Given the description of an element on the screen output the (x, y) to click on. 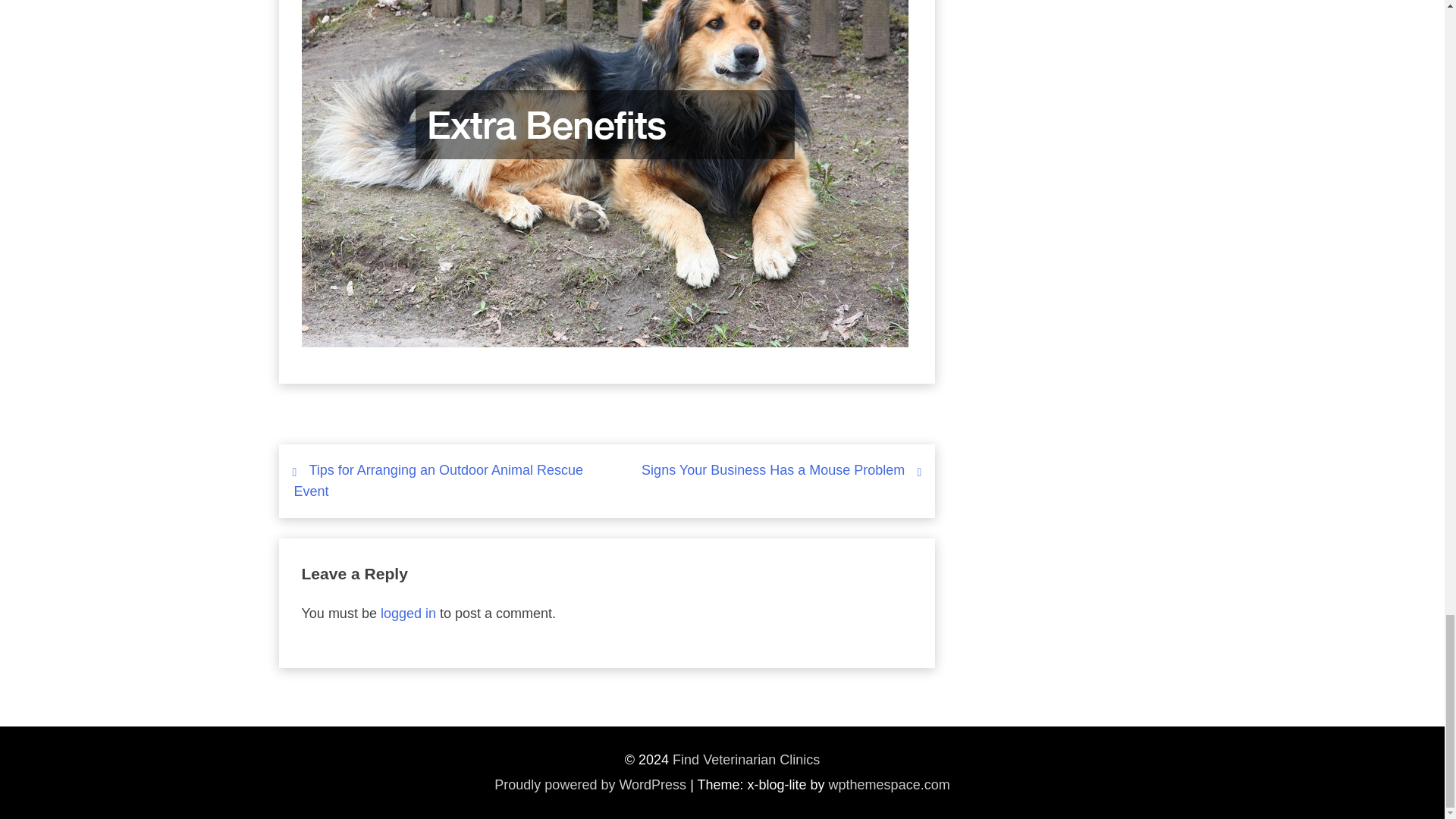
Tips for Arranging an Outdoor Animal Rescue Event (438, 480)
wpthemespace.com (889, 784)
Find Veterinarian Clinics (745, 760)
Proudly powered by WordPress (590, 784)
logged in (407, 613)
Signs Your Business Has a Mouse Problem (773, 469)
